Given the description of an element on the screen output the (x, y) to click on. 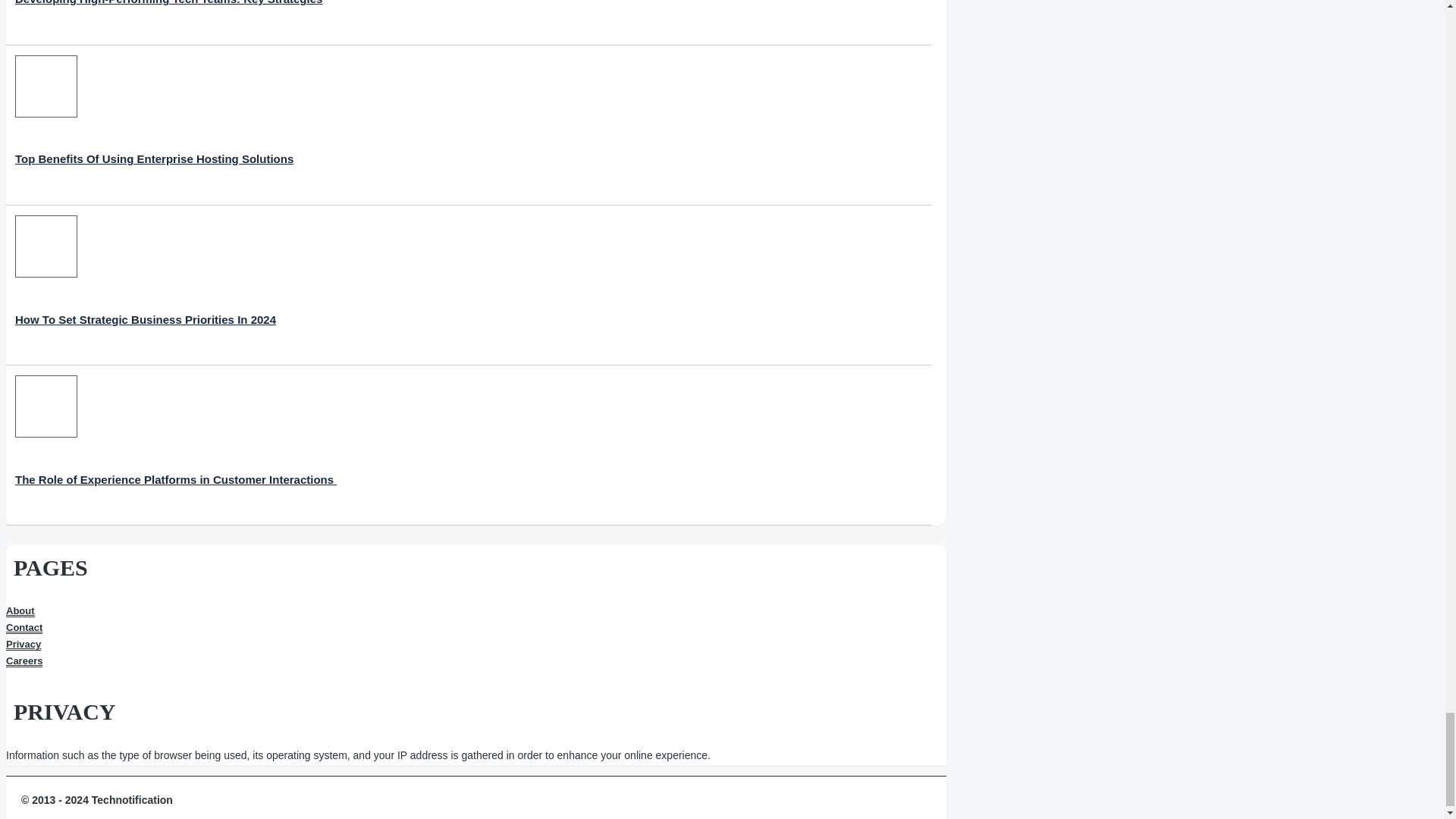
How To Set Strategic Business Priorities In 2024 (145, 285)
Developing High-Performing Tech Teams: Key Strategies (167, 18)
Top Benefits Of Using Enterprise Hosting Solutions (154, 125)
The Role of Experience Platforms in Customer Interactions  (175, 445)
